Given the description of an element on the screen output the (x, y) to click on. 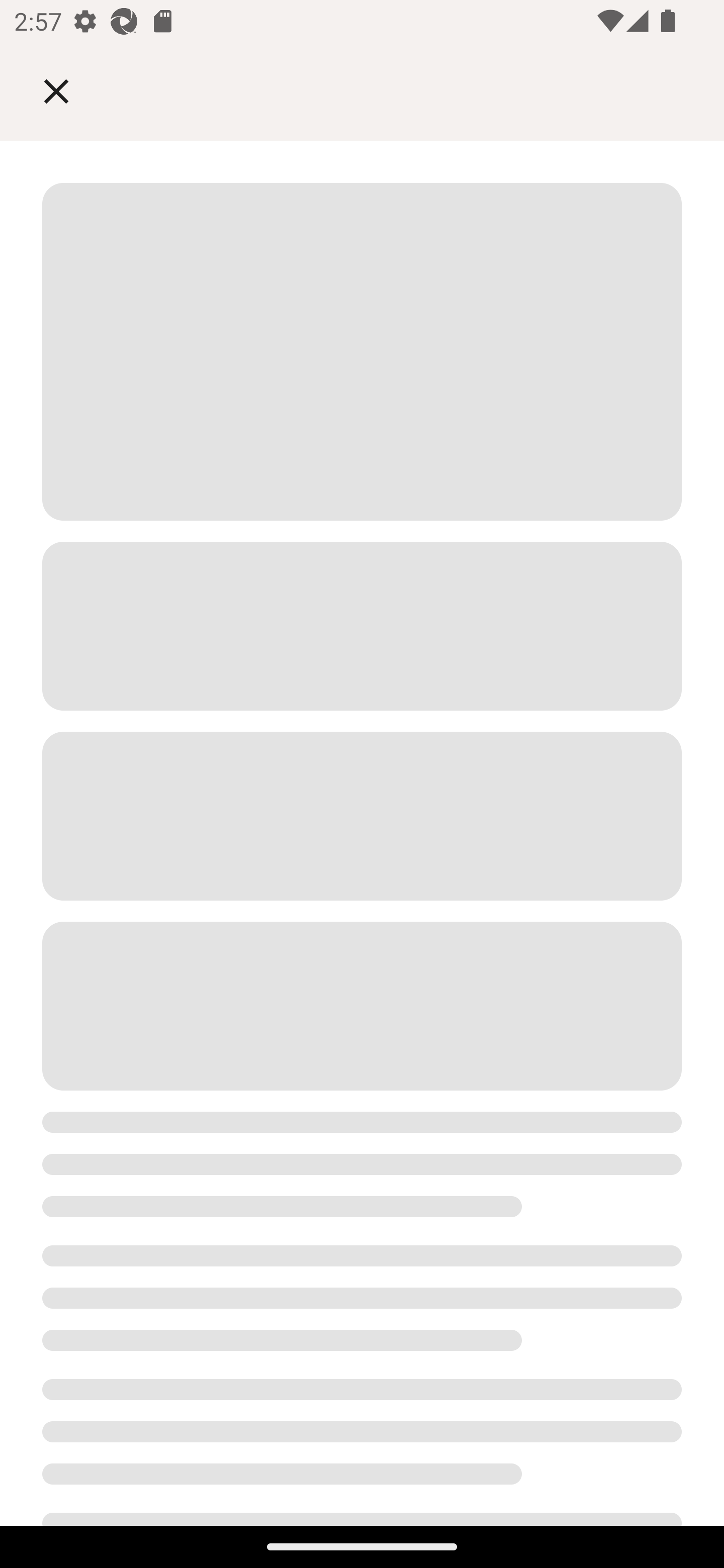
 (70, 90)
